Given the description of an element on the screen output the (x, y) to click on. 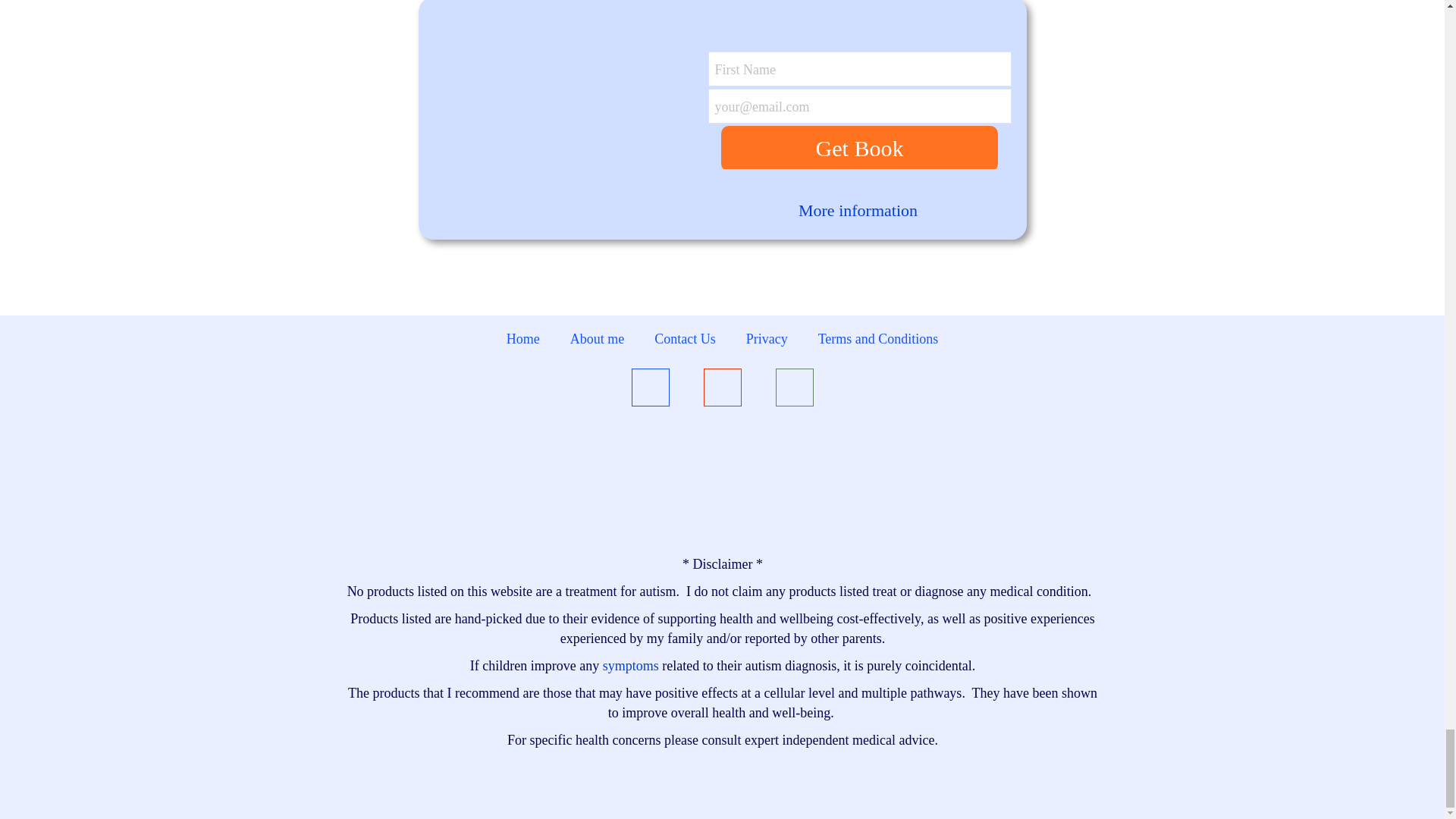
Natural Autism Support on Instagram (722, 390)
Facebook (650, 390)
Natural Autism Support on Twitter (794, 390)
